Given the description of an element on the screen output the (x, y) to click on. 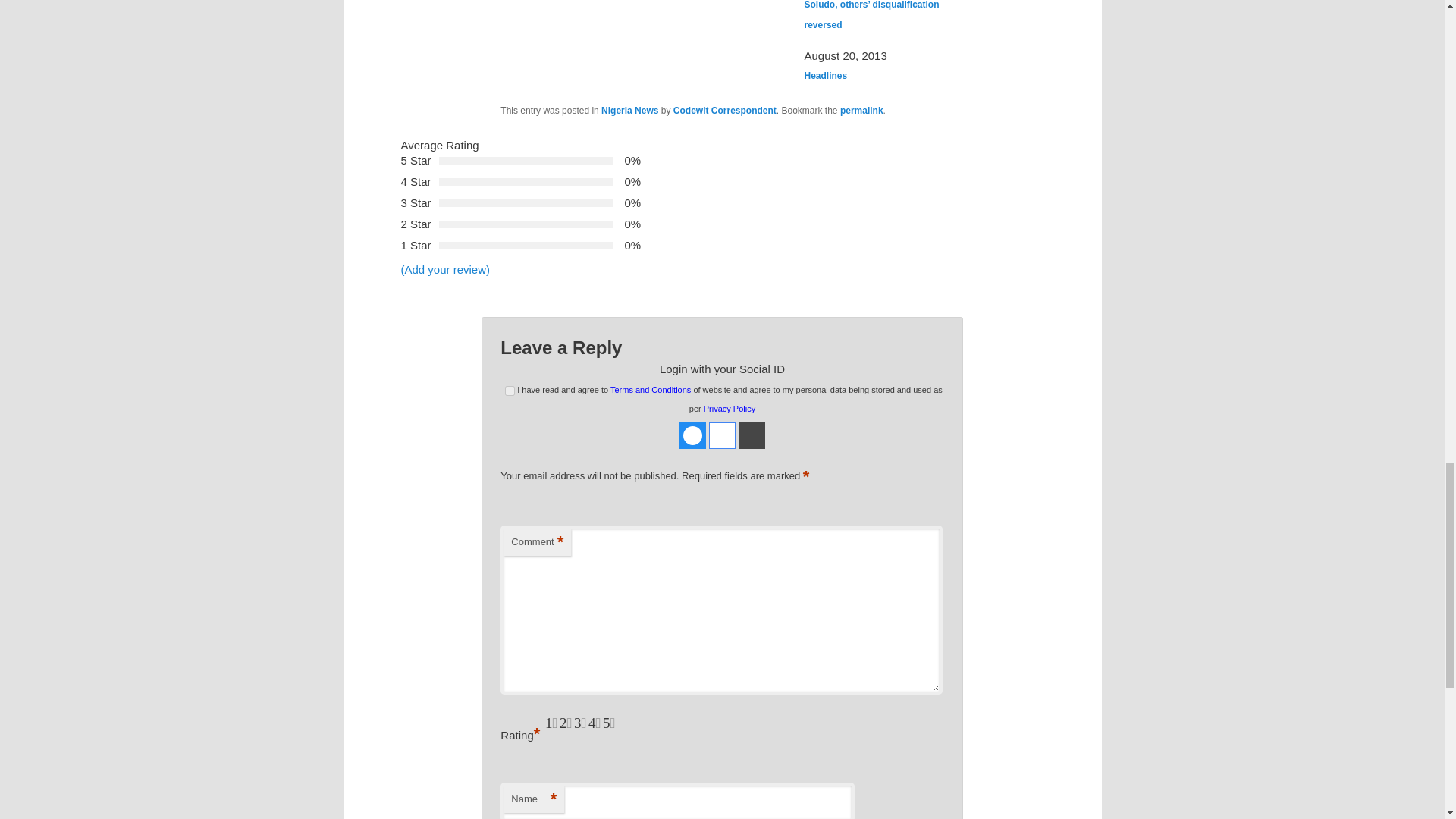
Login with Wordpress (751, 435)
Login with Google (722, 435)
1 (510, 390)
Login with Facebook (692, 435)
